Given the description of an element on the screen output the (x, y) to click on. 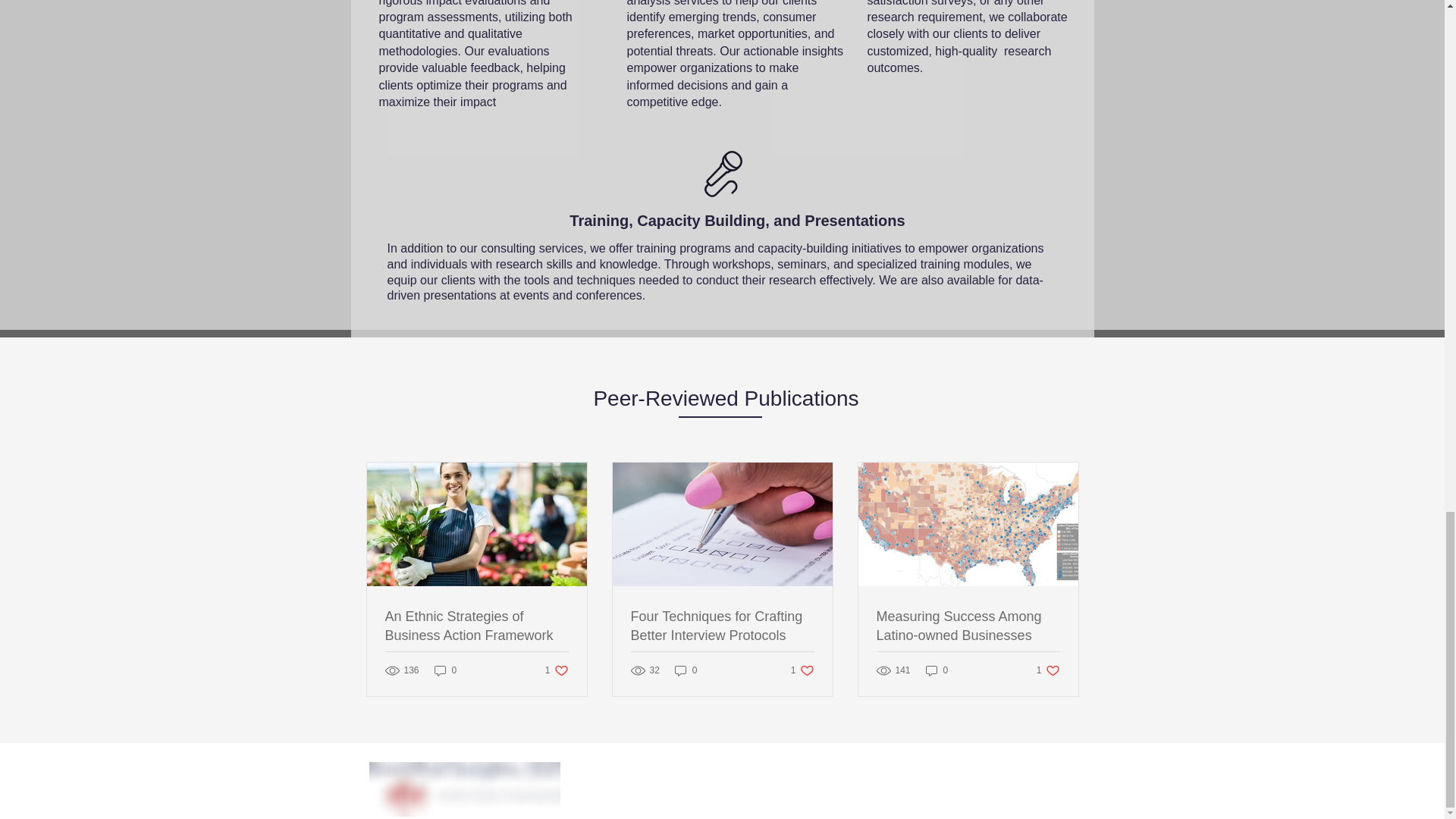
Measuring Success Among Latino-owned Businesses (967, 626)
0 (937, 670)
0 (801, 670)
An Ethnic Strategies of Business Action Framework (445, 670)
0 (477, 626)
Four Techniques for Crafting Better Interview Protocols (1047, 670)
